Given the description of an element on the screen output the (x, y) to click on. 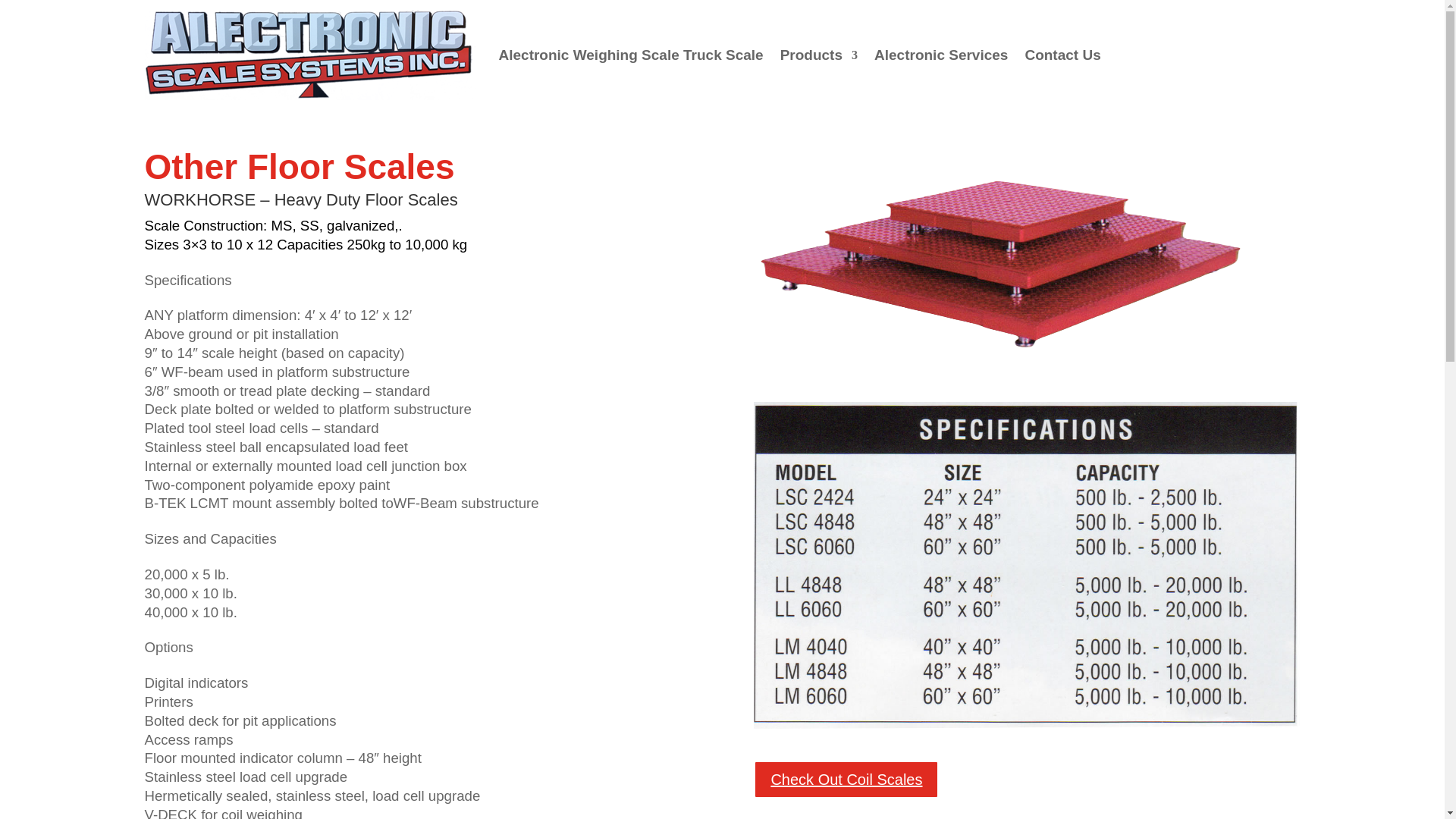
floorScales (1000, 259)
Alectronic Weighing Scale Truck Scale (630, 54)
Check Out Coil Scales (846, 779)
Alectronic Services (941, 54)
